Given the description of an element on the screen output the (x, y) to click on. 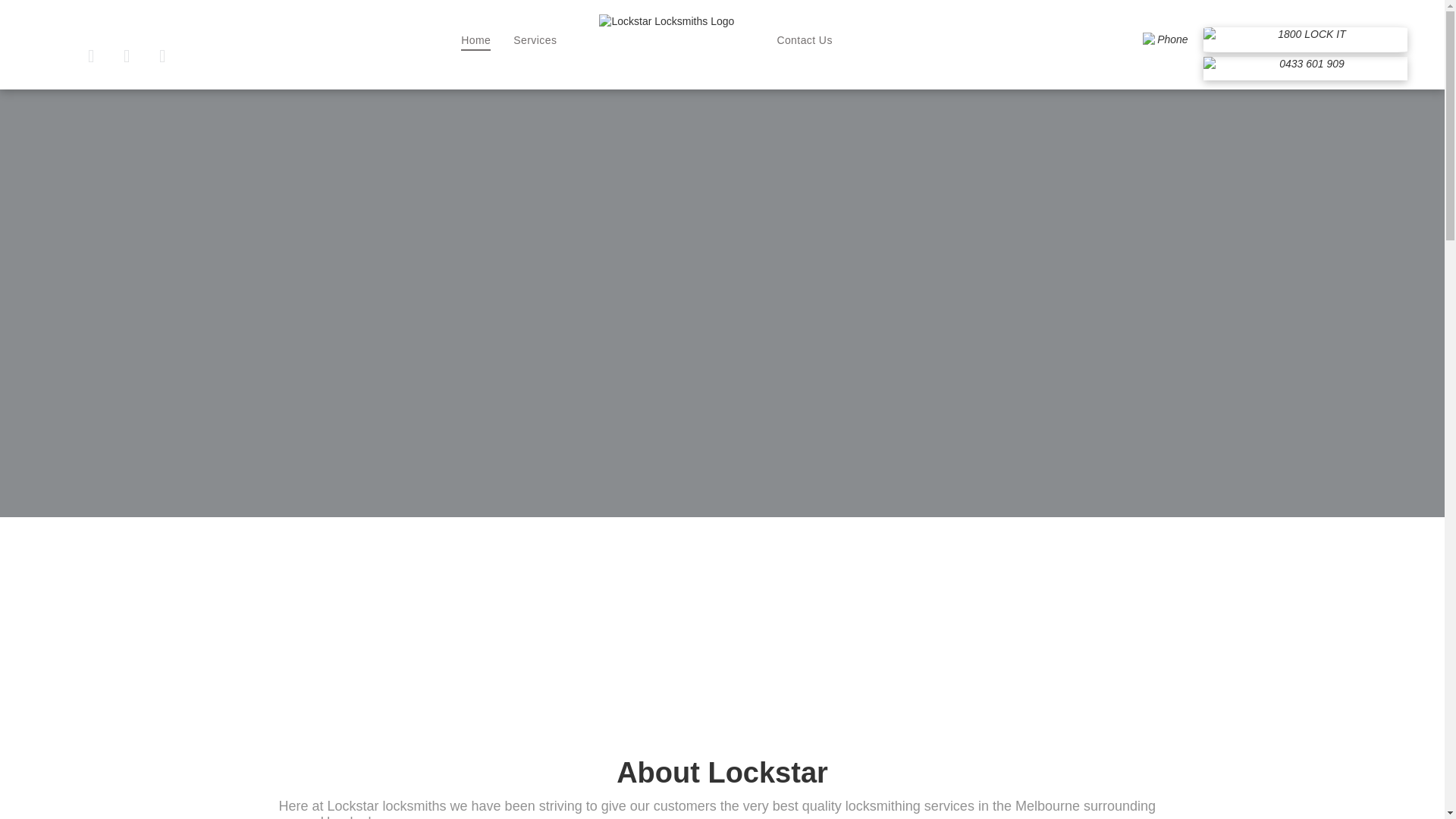
Home Element type: text (475, 40)
1800 5625 48 Element type: hover (1305, 39)
0433 601 909 Element type: hover (1305, 68)
Contact Us Element type: text (804, 40)
Services Element type: text (534, 40)
1800 5625 48 / 0433 601 909 Element type: hover (1165, 55)
